Given the description of an element on the screen output the (x, y) to click on. 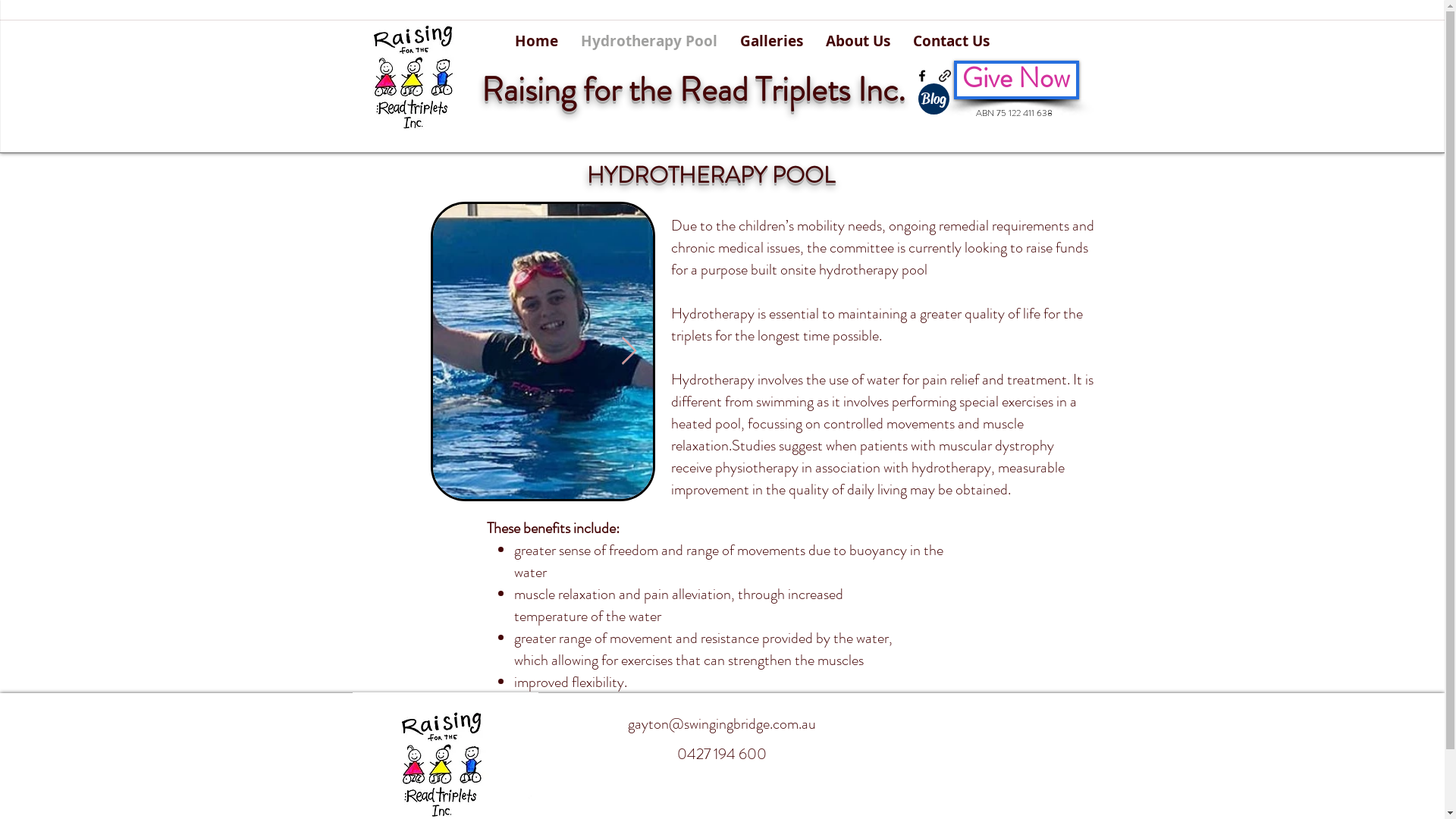
read triplets logo.JPG Element type: hover (412, 75)
Give Now Element type: text (1016, 79)
Home Element type: text (536, 40)
Contact Us Element type: text (951, 40)
About Us Element type: text (857, 40)
Galleries Element type: text (771, 40)
gayton@swingingbridge.com.au Element type: text (721, 723)
Hydrotherapy Pool Element type: text (648, 40)
Blog Element type: text (932, 98)
